Given the description of an element on the screen output the (x, y) to click on. 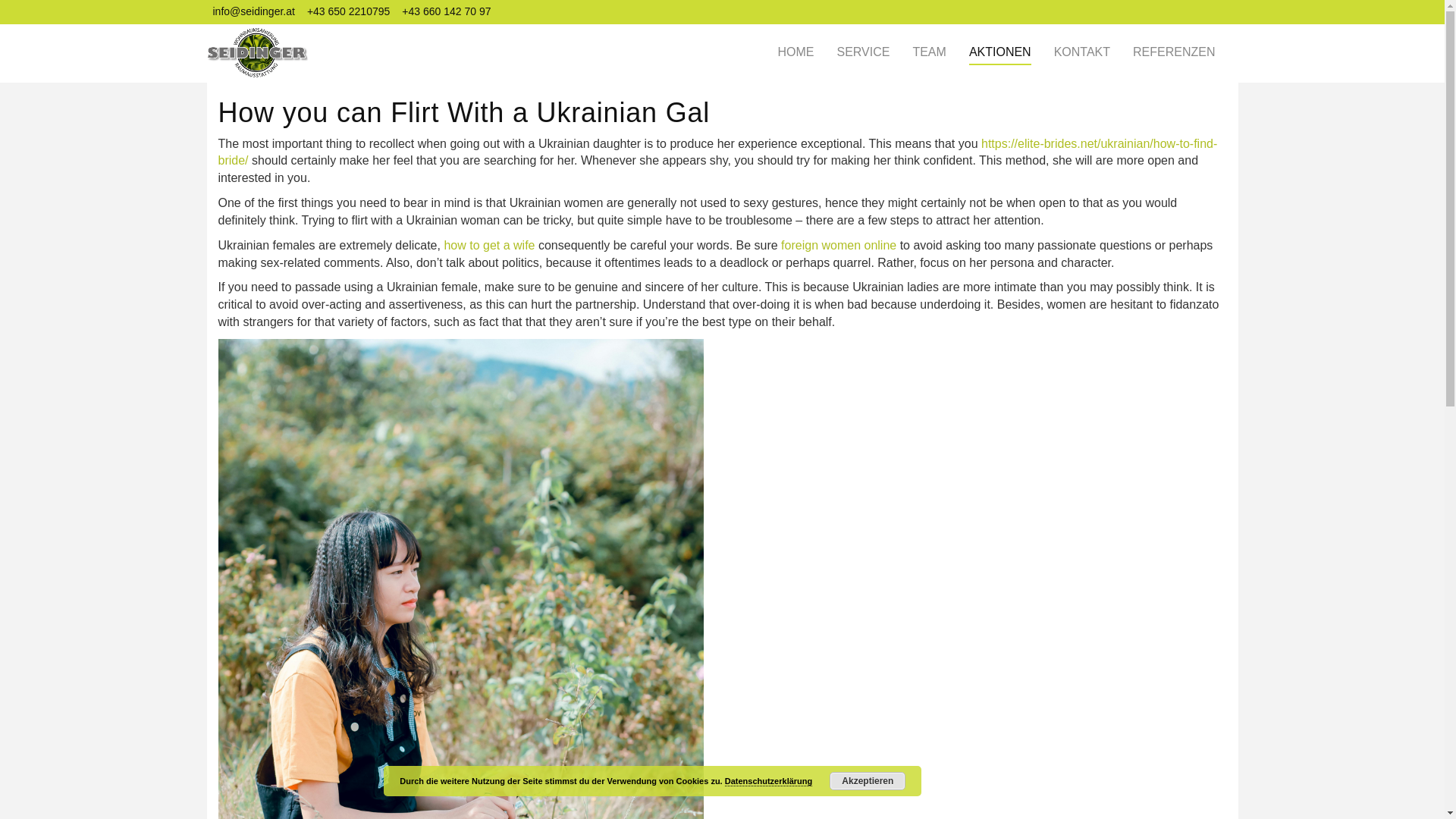
REFERENZEN (1173, 54)
AKTIONEN (1000, 54)
KONTAKT (1081, 54)
Home (795, 54)
Aktionen (1000, 54)
Kontakt (1081, 54)
foreign women online (838, 245)
Service (863, 54)
Referenzen (1173, 54)
Akzeptieren (867, 781)
HOME (795, 54)
Team (928, 54)
TEAM (928, 54)
SERVICE (863, 54)
how to get a wife (489, 245)
